Given the description of an element on the screen output the (x, y) to click on. 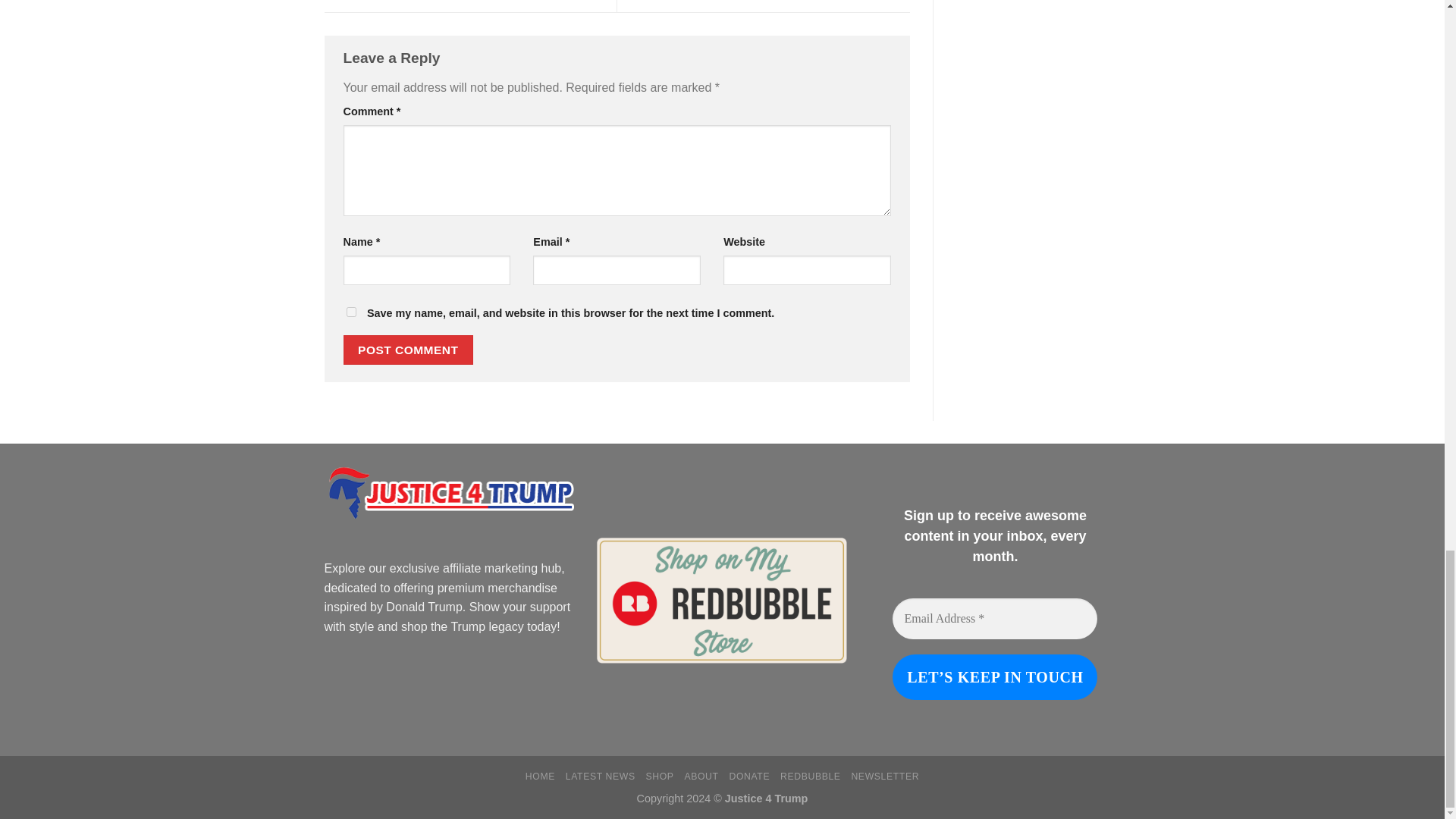
yes (350, 311)
Post Comment (407, 349)
Post Comment (407, 349)
